Given the description of an element on the screen output the (x, y) to click on. 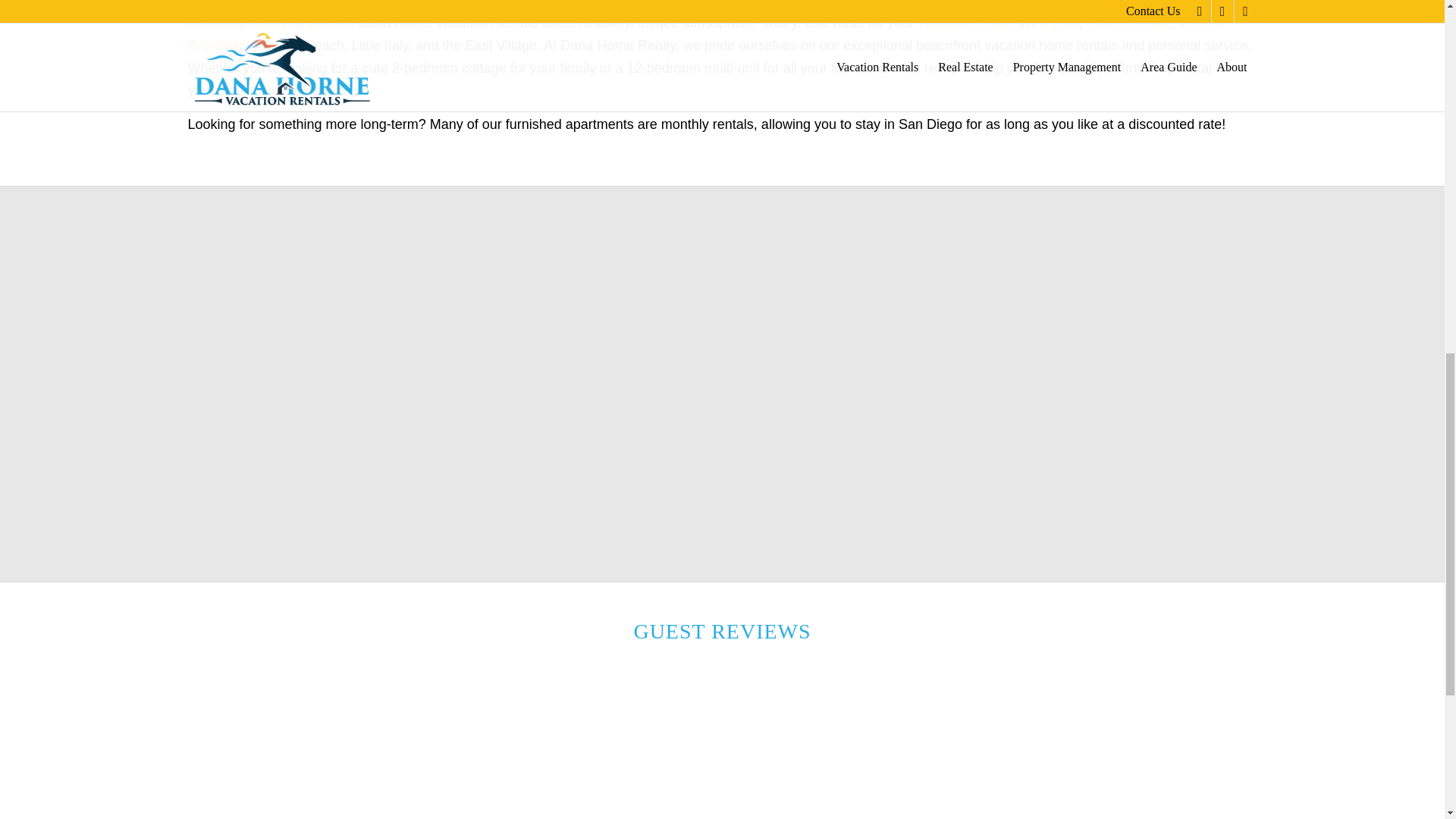
La Jolla (1055, 22)
vacation rentals (965, 22)
Pacific Beach (1127, 22)
